Given the description of an element on the screen output the (x, y) to click on. 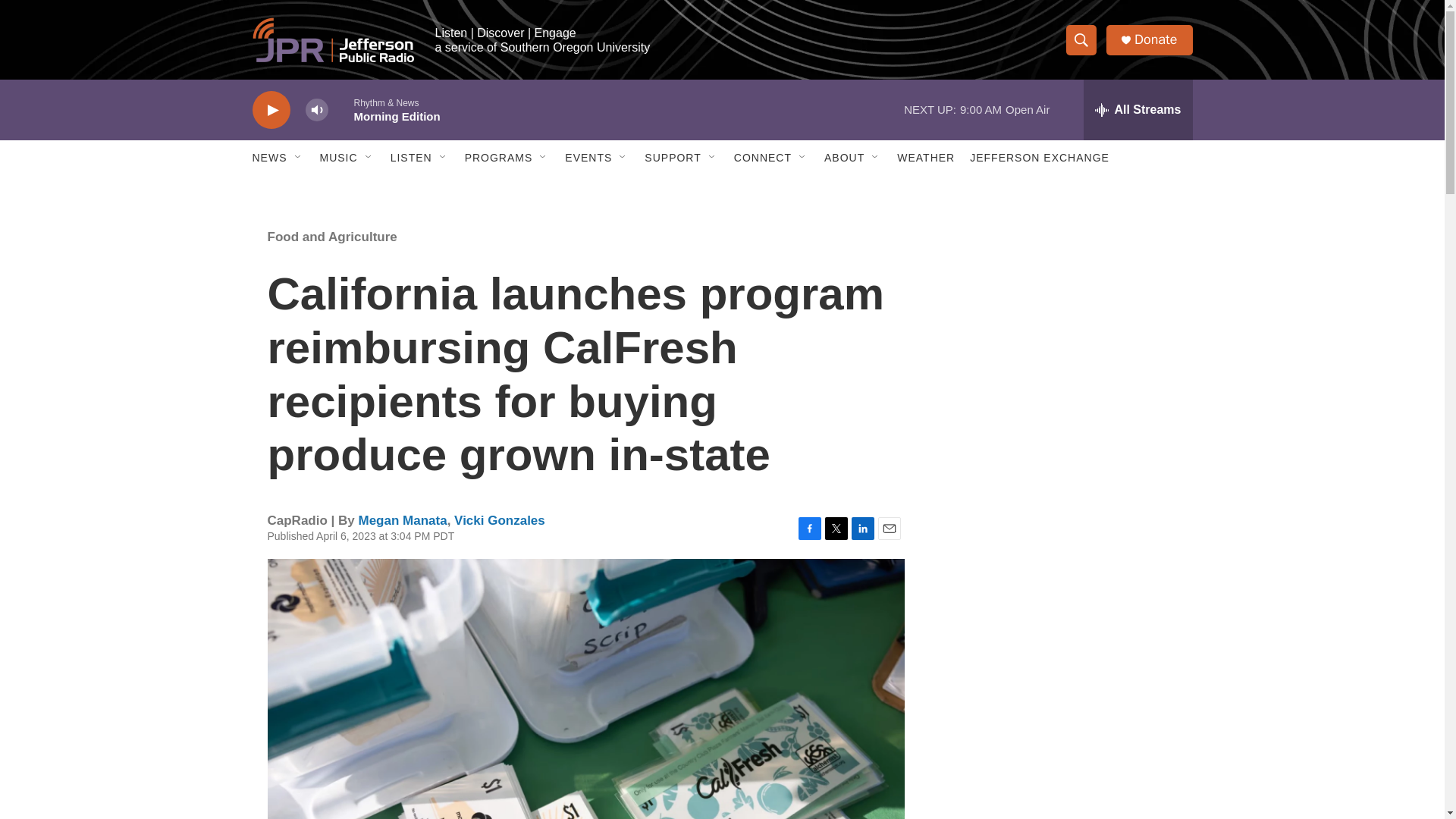
3rd party ad content (1062, 316)
3rd party ad content (1062, 740)
3rd party ad content (1062, 536)
